Given the description of an element on the screen output the (x, y) to click on. 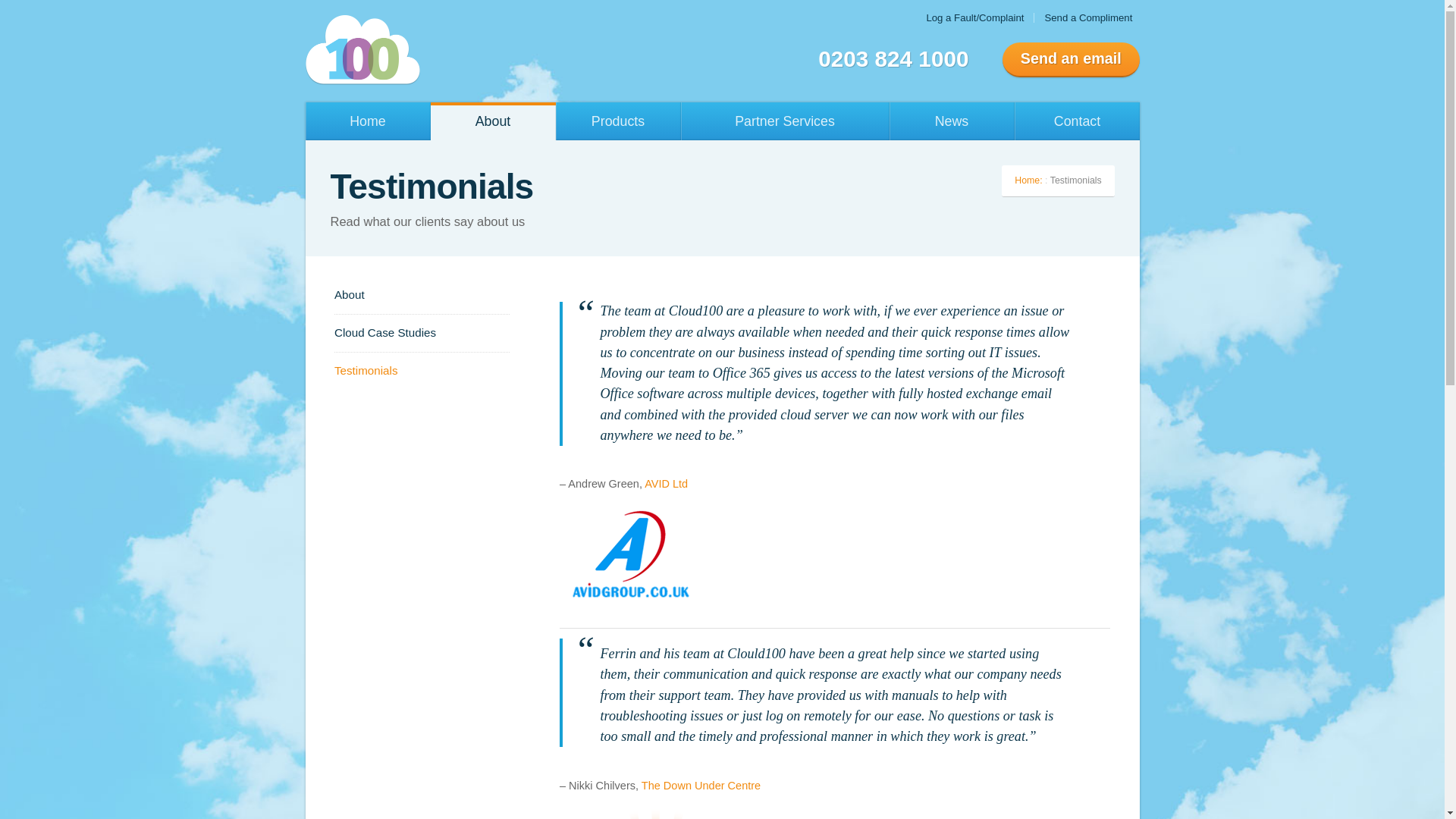
About (421, 294)
News (950, 121)
Products (616, 121)
The Down Under Centre (701, 785)
Testimonials (421, 370)
Send a Compliment (1087, 17)
Home (366, 121)
AVID Ltd (666, 483)
Partner Services (785, 121)
About (493, 121)
Cloud Case Studies (421, 332)
Home: (1028, 180)
0203 824 1000 (893, 58)
Send an email (1071, 59)
Contact (1077, 121)
